Given the description of an element on the screen output the (x, y) to click on. 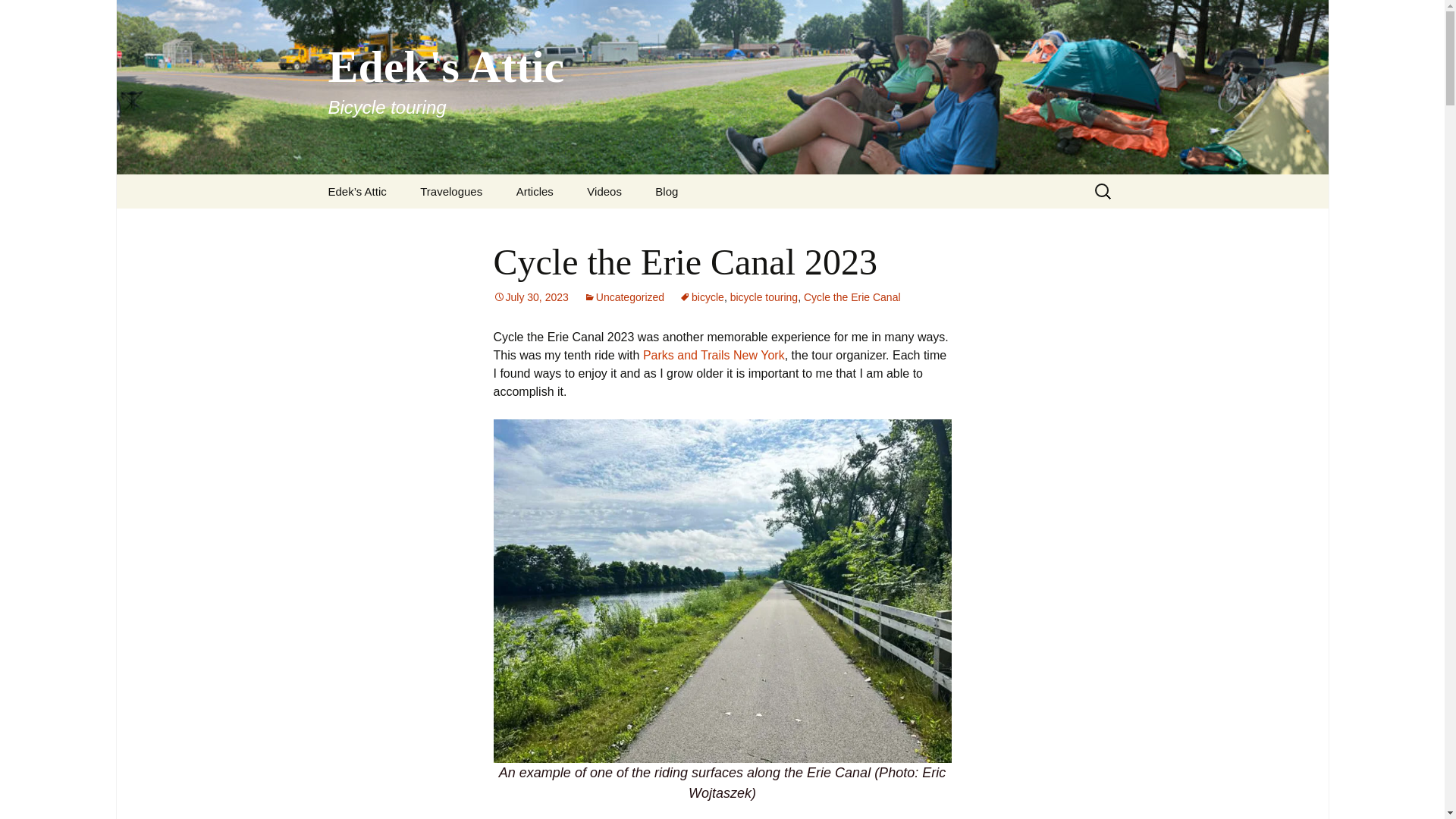
Articles (534, 191)
bicycle touring (763, 297)
July 30, 2023 (530, 297)
Cycle the Erie Canal (852, 297)
Parks and Trails New York (713, 354)
Uncategorized (623, 297)
Permalink to Cycle the Erie Canal 2023 (530, 297)
Videos (604, 191)
